Given the description of an element on the screen output the (x, y) to click on. 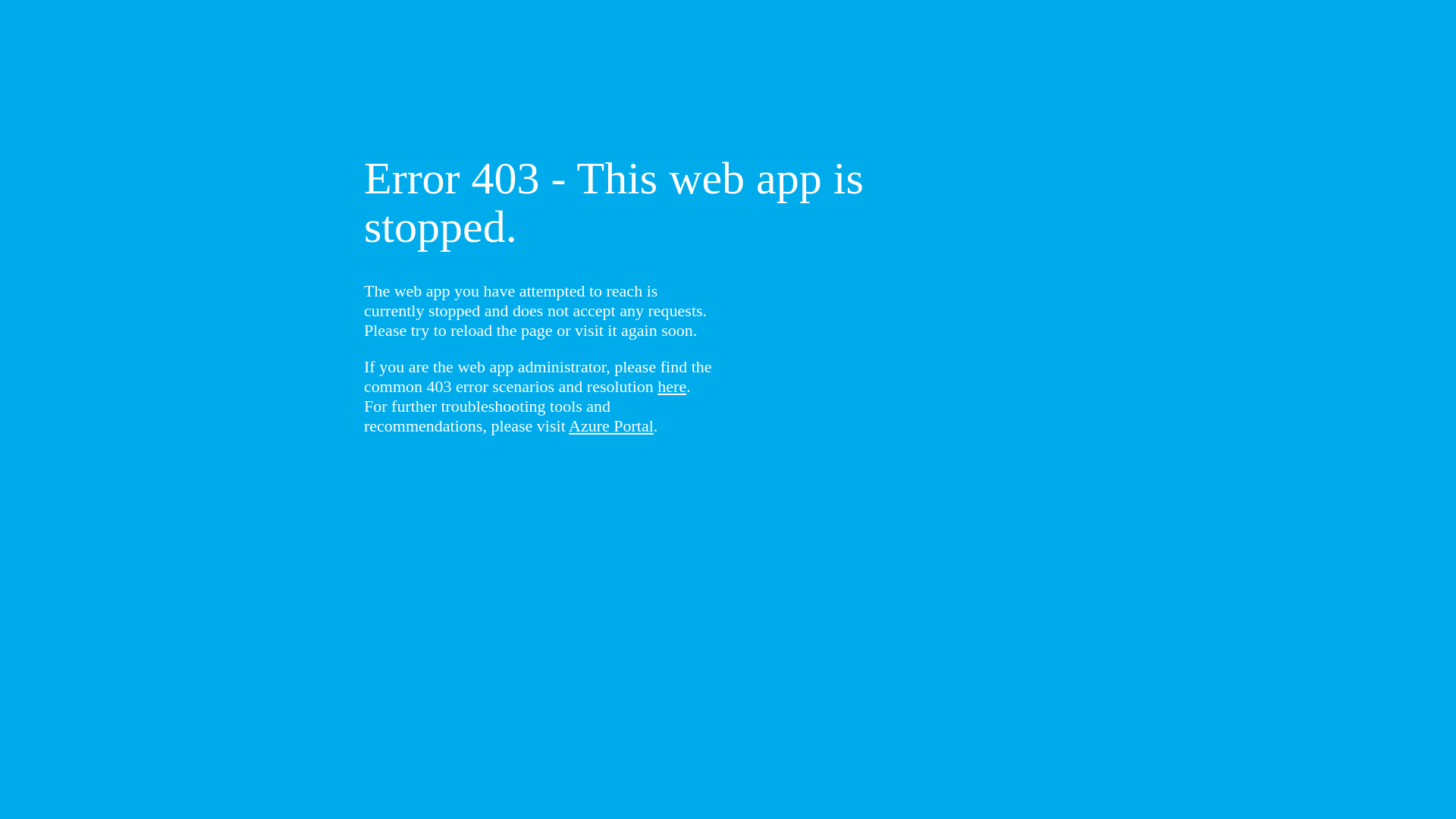
here Element type: text (671, 385)
Azure Portal Element type: text (610, 425)
